Given the description of an element on the screen output the (x, y) to click on. 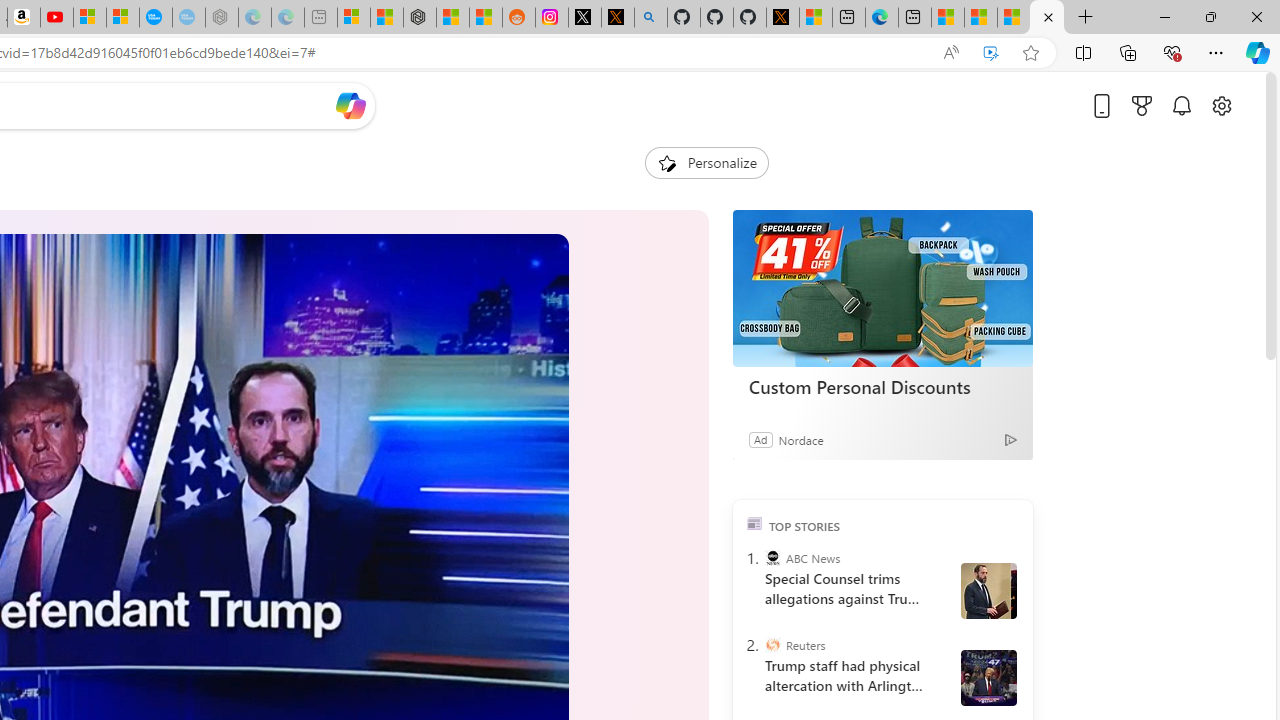
Browser essentials (1171, 52)
Restore (1210, 16)
Reuters (772, 645)
Enhance video (991, 53)
github - Search (650, 17)
X Privacy Policy (782, 17)
Read aloud this page (Ctrl+Shift+U) (950, 53)
Settings and more (Alt+F) (1215, 52)
Minimize (1164, 16)
